Given the description of an element on the screen output the (x, y) to click on. 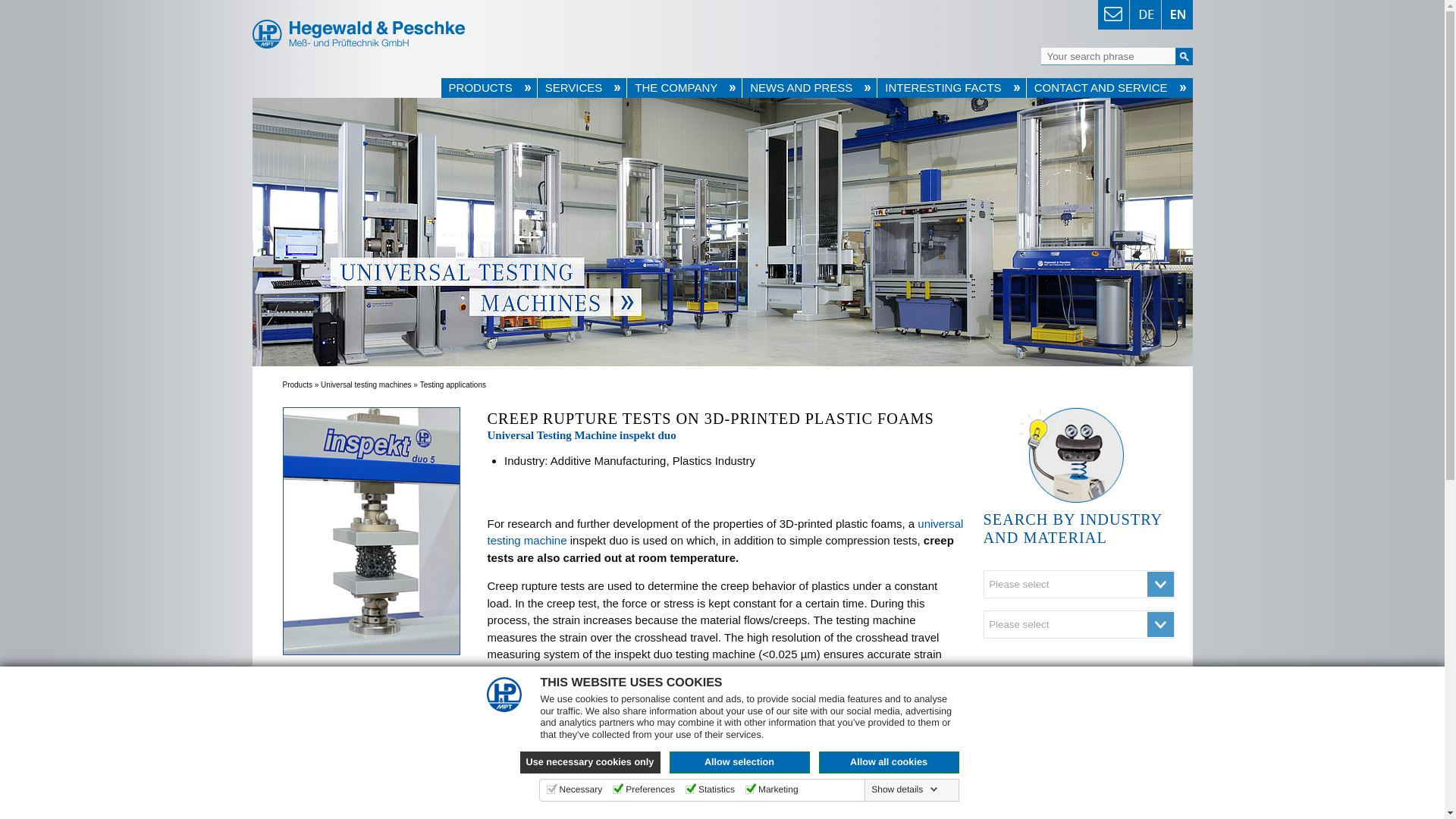
Allow all cookies (888, 762)
Show details (903, 788)
Allow selection (738, 762)
Use necessary cookies only (590, 762)
